Given the description of an element on the screen output the (x, y) to click on. 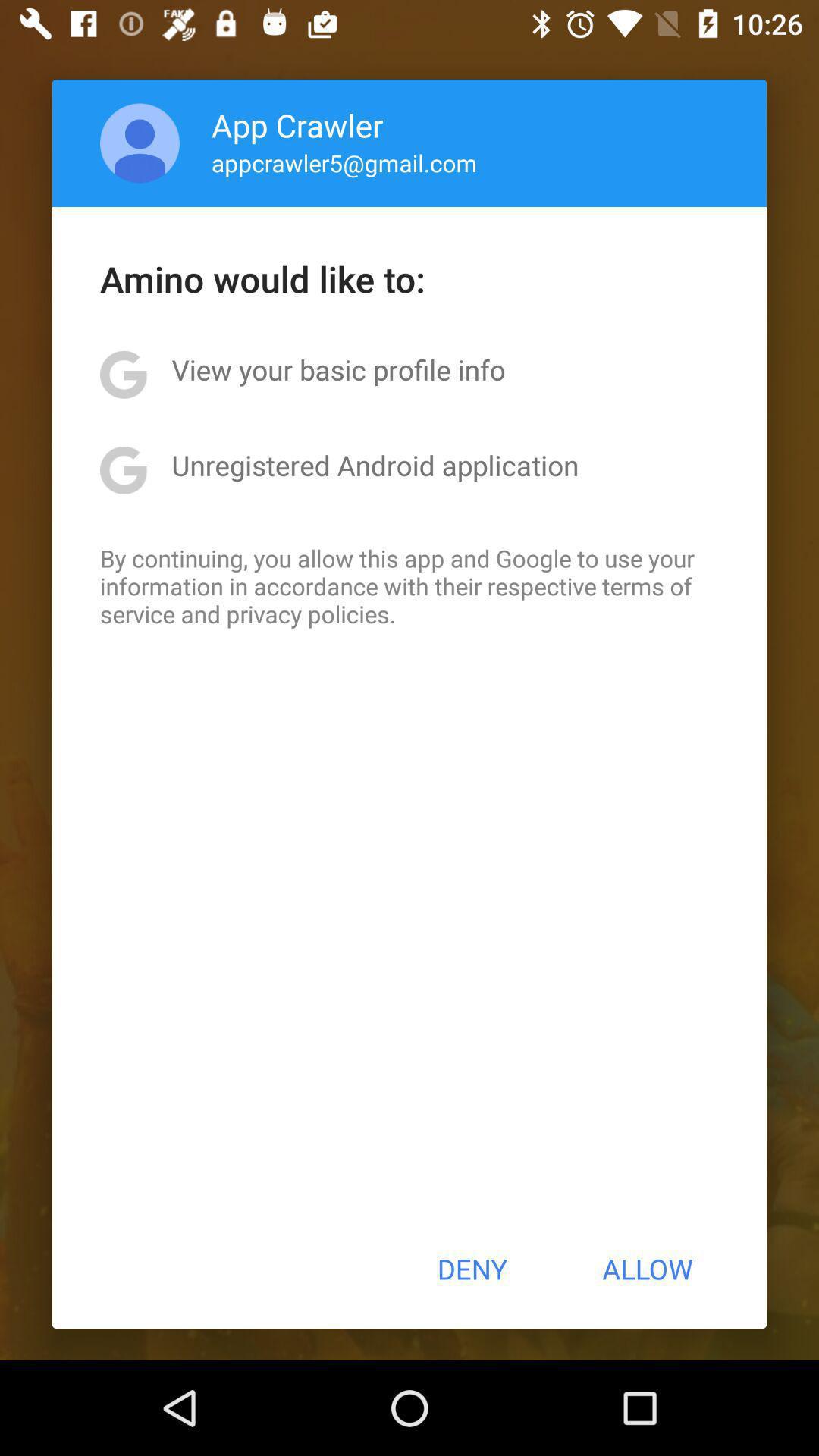
tap appcrawler5@gmail.com app (344, 162)
